Given the description of an element on the screen output the (x, y) to click on. 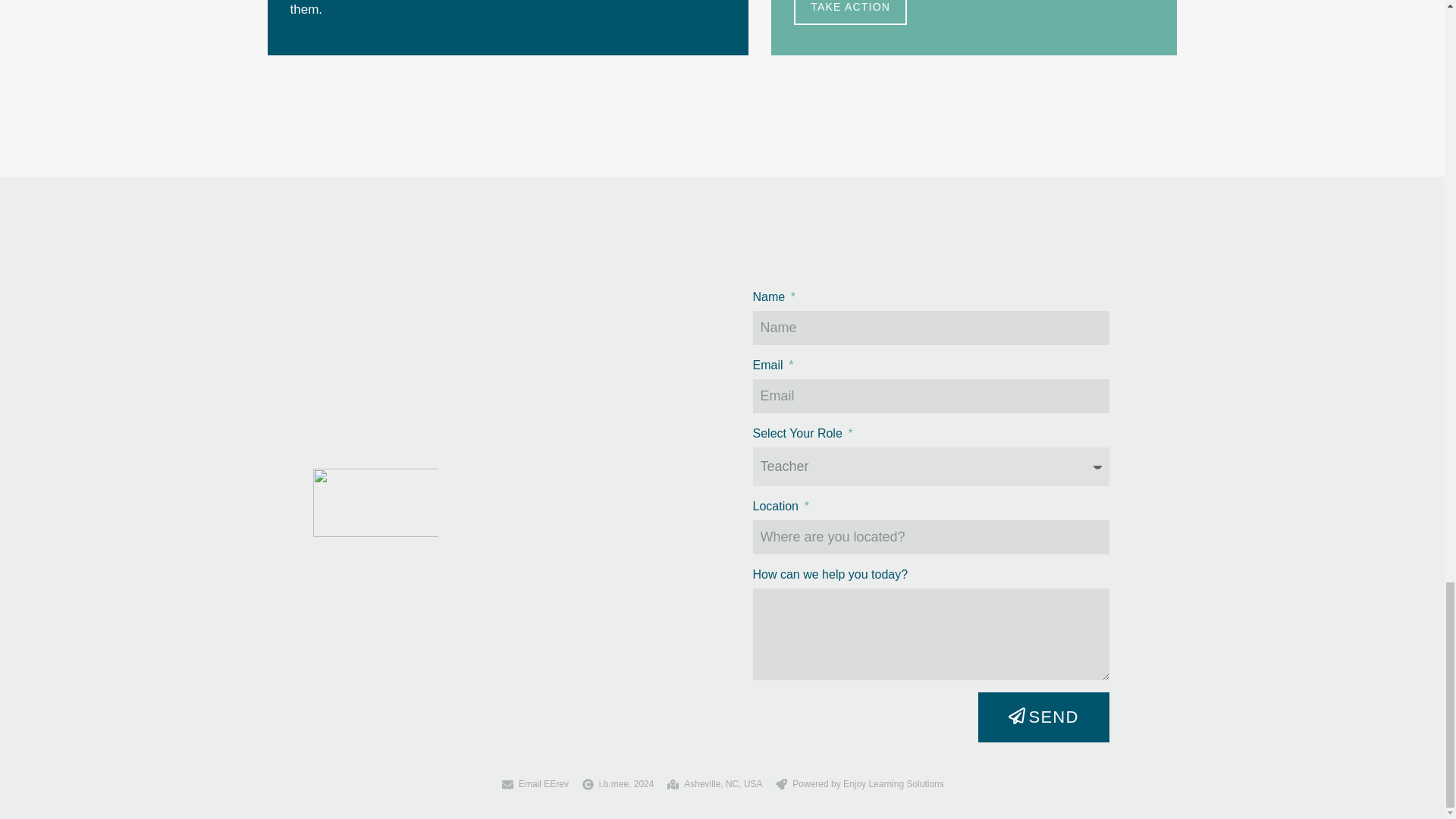
TAKE ACTION (850, 12)
